Given the description of an element on the screen output the (x, y) to click on. 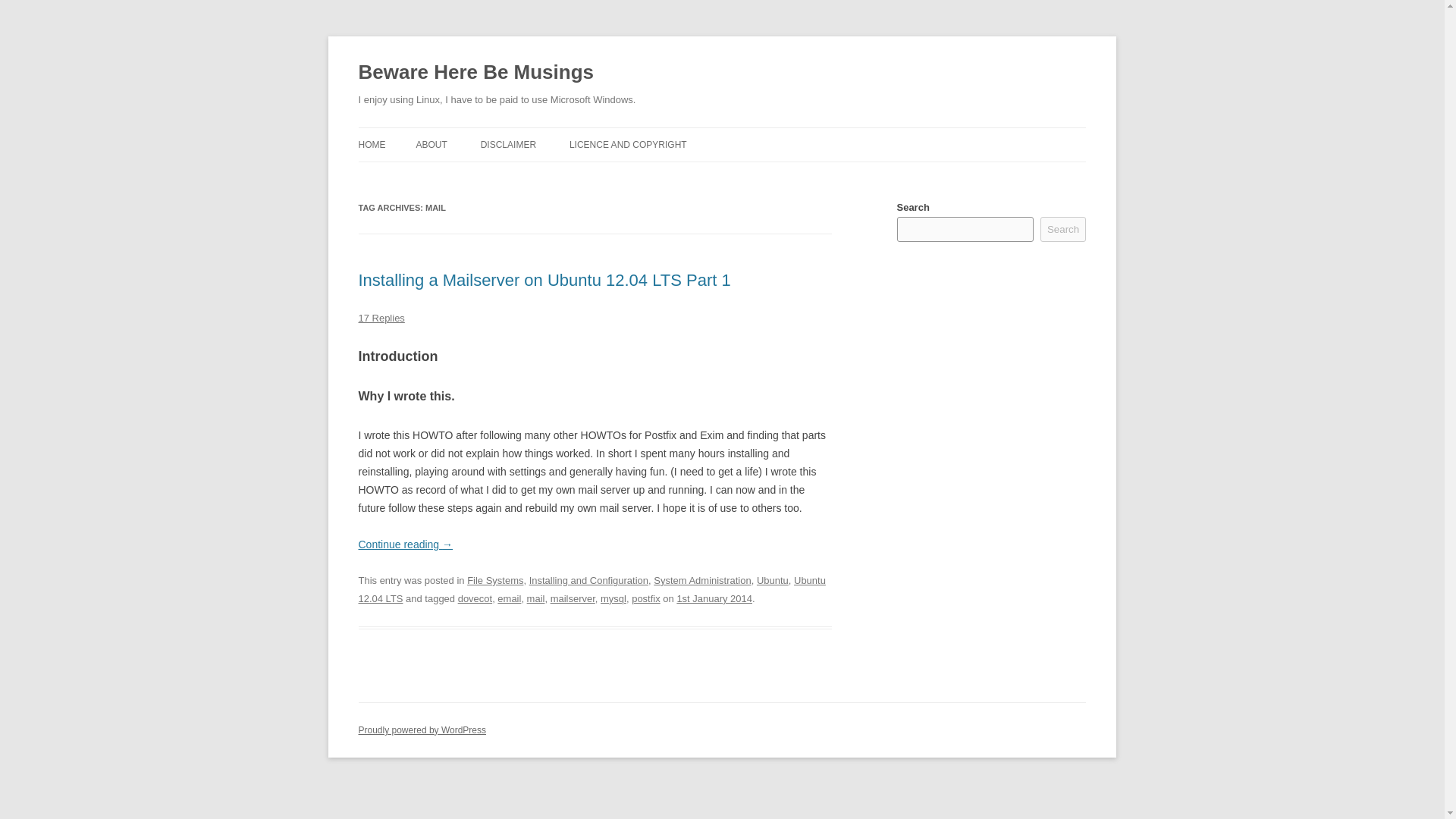
17 Replies (381, 317)
dovecot (475, 598)
Installing a Mailserver on Ubuntu 12.04 LTS Part 1 (544, 280)
Ubuntu (773, 580)
mail (535, 598)
System Administration (702, 580)
Beware Here Be Musings (475, 72)
ABOUT (430, 144)
Ubuntu 12.04 LTS (591, 589)
5:38 pm (714, 598)
email (509, 598)
DISCLAIMER (507, 144)
LICENCE AND COPYRIGHT (628, 144)
Search (1063, 229)
